Given the description of an element on the screen output the (x, y) to click on. 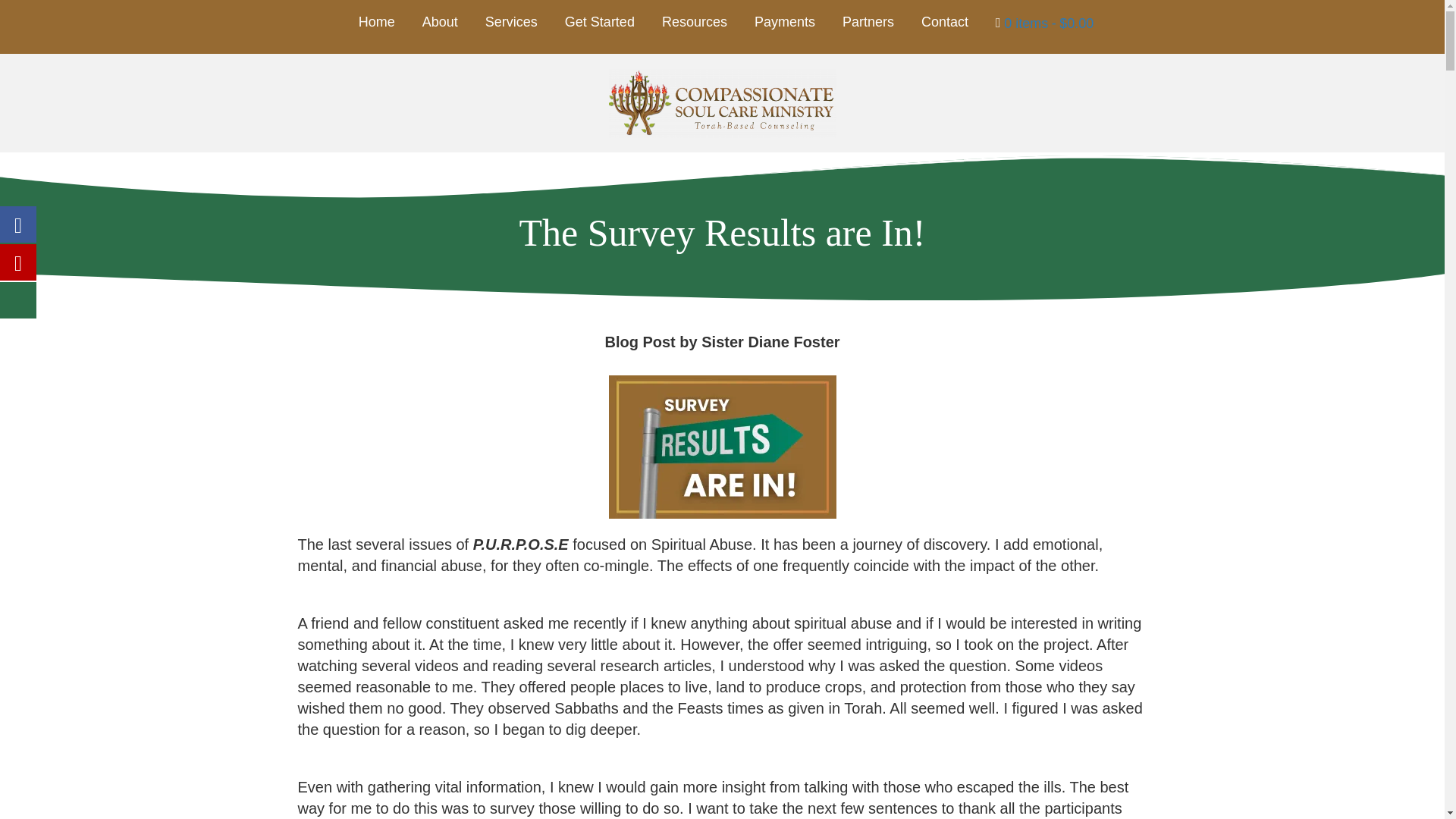
Partners (868, 21)
Contact (944, 21)
Resources (694, 21)
BUY JOURNAL (1044, 23)
Get Started (599, 21)
About (439, 21)
Payments (784, 21)
Compassionate Soul Care Ministry Logo 2022 (721, 103)
Services (511, 21)
Home (376, 21)
